Given the description of an element on the screen output the (x, y) to click on. 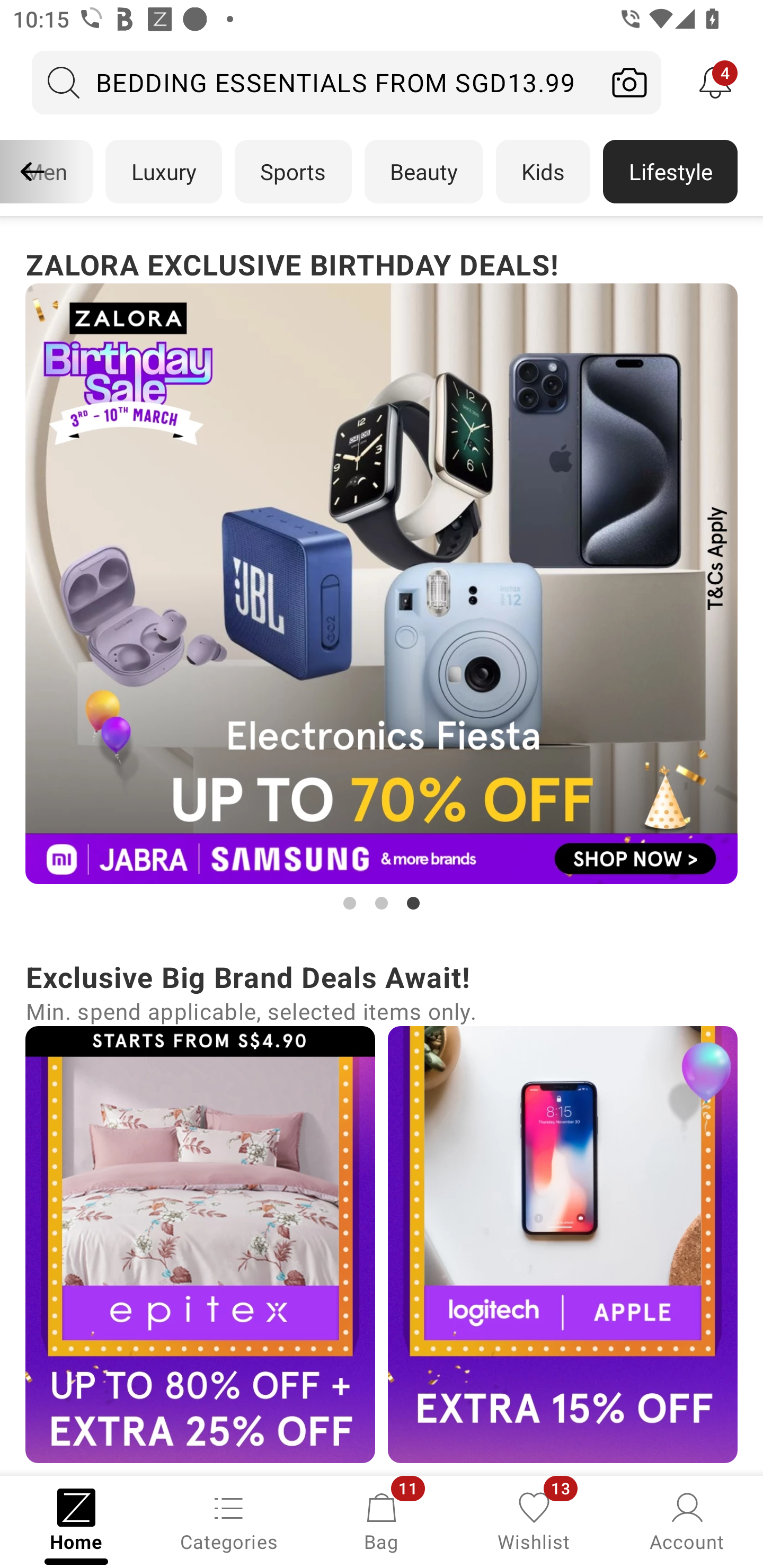
BEDDING ESSENTIALS FROM SGD13.99 (314, 82)
Luxury (163, 171)
Sports (293, 171)
Beauty (423, 171)
Kids (542, 171)
Lifestyle (669, 171)
ZALORA EXCLUSIVE BIRTHDAY DEALS! Campaign banner (381, 578)
Campaign banner (381, 583)
Campaign banner (200, 1243)
Campaign banner (562, 1243)
Categories (228, 1519)
Bag, 11 new notifications Bag (381, 1519)
Wishlist, 13 new notifications Wishlist (533, 1519)
Account (686, 1519)
